Given the description of an element on the screen output the (x, y) to click on. 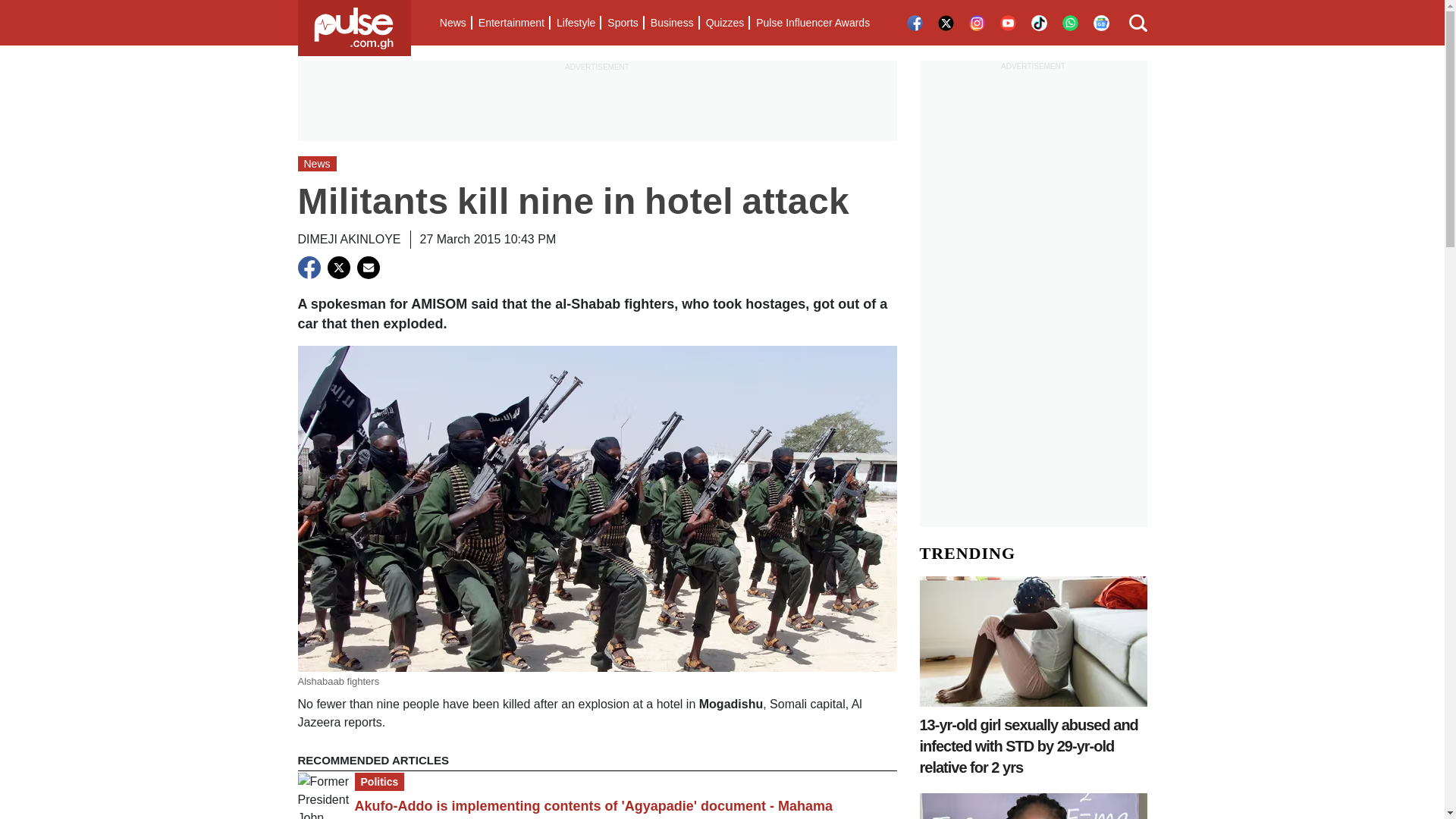
Business (672, 22)
Sports (622, 22)
Entertainment (510, 22)
Lifestyle (575, 22)
